Given the description of an element on the screen output the (x, y) to click on. 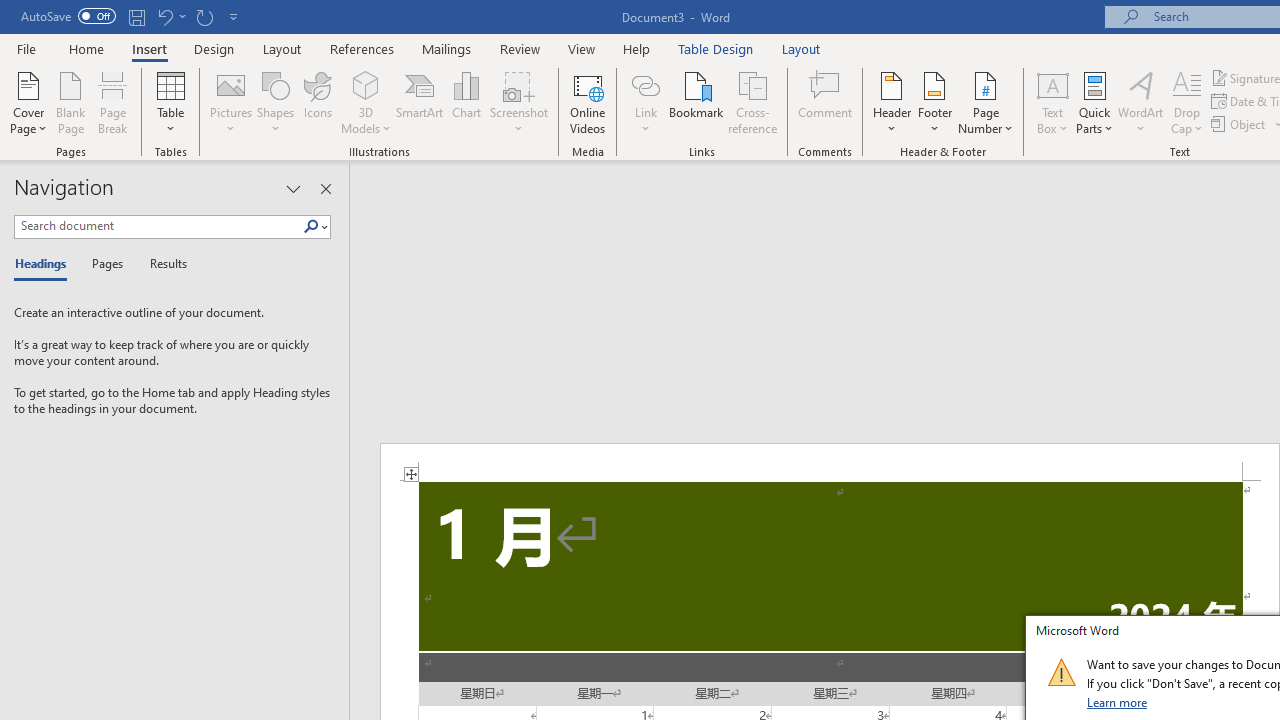
SmartArt... (419, 102)
Search document (157, 226)
Customize Quick Access Toolbar (234, 15)
Header -Section 1- (830, 461)
Comment (825, 102)
Bookmark... (695, 102)
Pages (105, 264)
WordArt (1141, 102)
Insert (149, 48)
Class: NetUIImage (1061, 671)
Footer (934, 102)
Drop Cap (1187, 102)
Table Design (715, 48)
References (362, 48)
Design (214, 48)
